Given the description of an element on the screen output the (x, y) to click on. 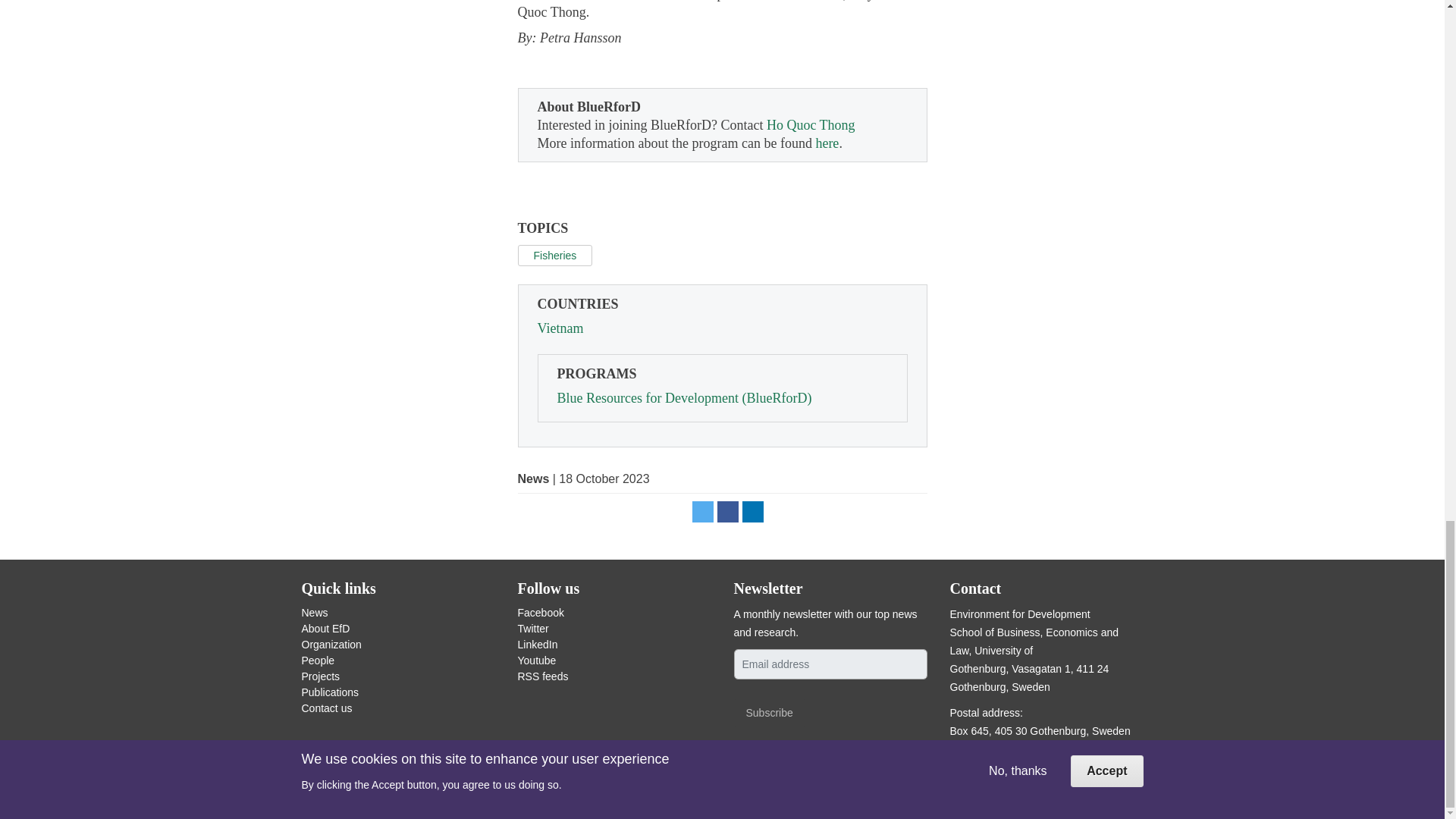
Twitter (703, 511)
Facebook (727, 511)
Linked in (752, 511)
